Given the description of an element on the screen output the (x, y) to click on. 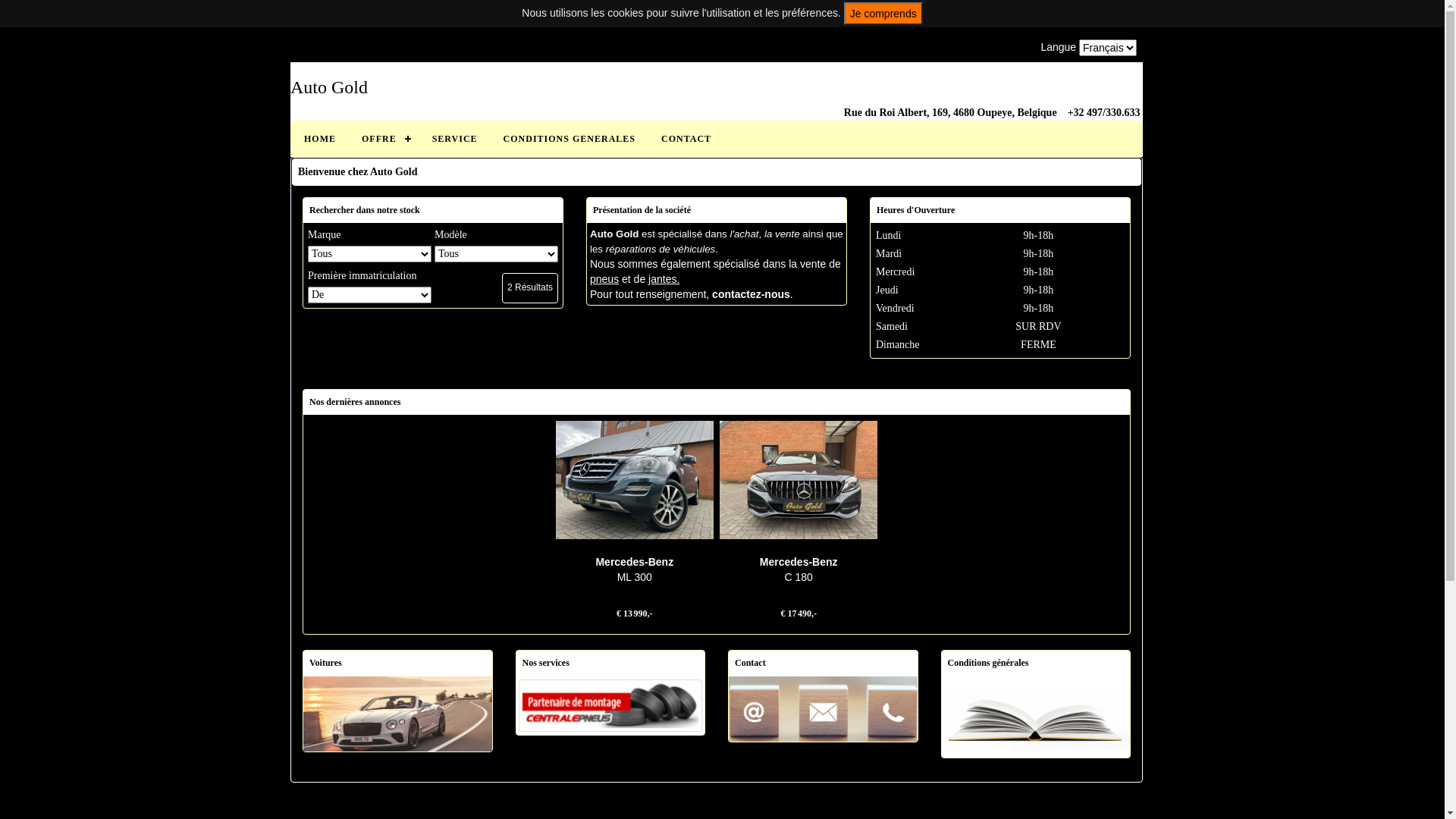
Nos services
  Element type: text (609, 703)
Je comprends Element type: text (883, 13)
Contact
  Element type: text (822, 706)
CONTACT Element type: text (686, 138)
CONDITIONS GENERALES Element type: text (569, 138)
HOME Element type: text (319, 138)
Voitures
  Element type: text (397, 712)
SERVICE Element type: text (454, 138)
+32 497/330.633 Element type: text (1103, 112)
OFFRE Element type: text (383, 138)
Auto Gold Element type: text (716, 87)
